Given the description of an element on the screen output the (x, y) to click on. 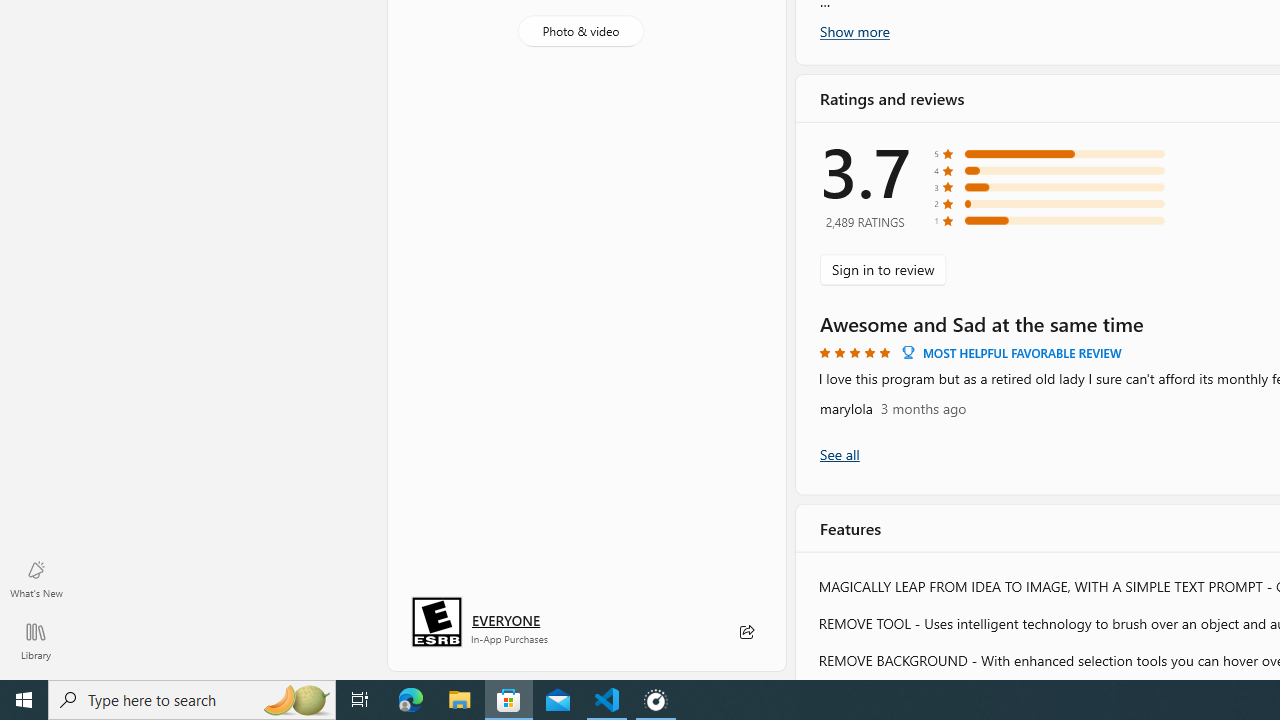
Share (746, 632)
Show more (854, 31)
Sign in to review (882, 269)
Show all ratings and reviews (838, 454)
Library (35, 640)
Photo & video (579, 30)
Age rating: EVERYONE. Click for more information. (506, 619)
What's New (35, 578)
